Given the description of an element on the screen output the (x, y) to click on. 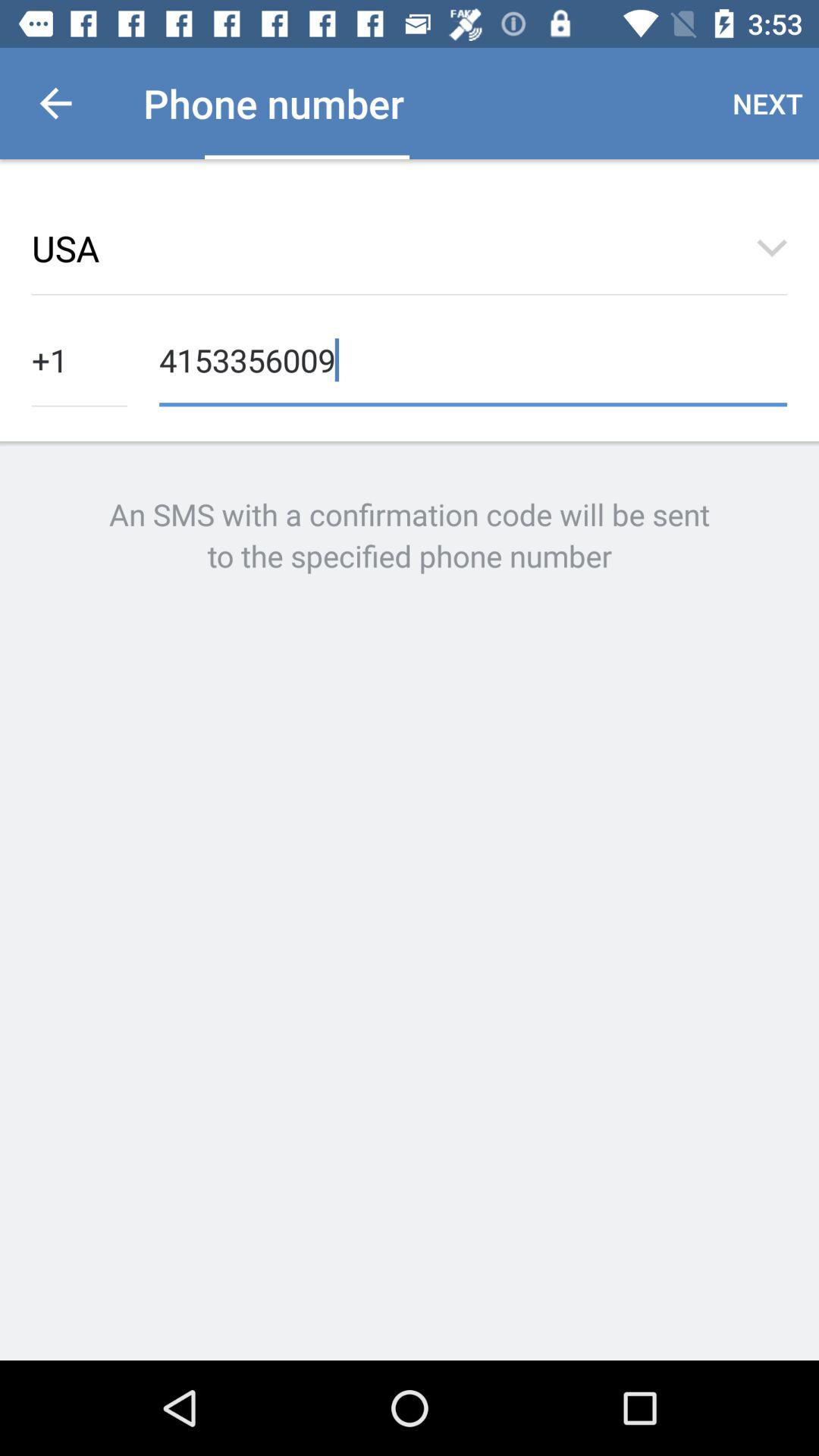
click the item above an sms with (79, 358)
